Given the description of an element on the screen output the (x, y) to click on. 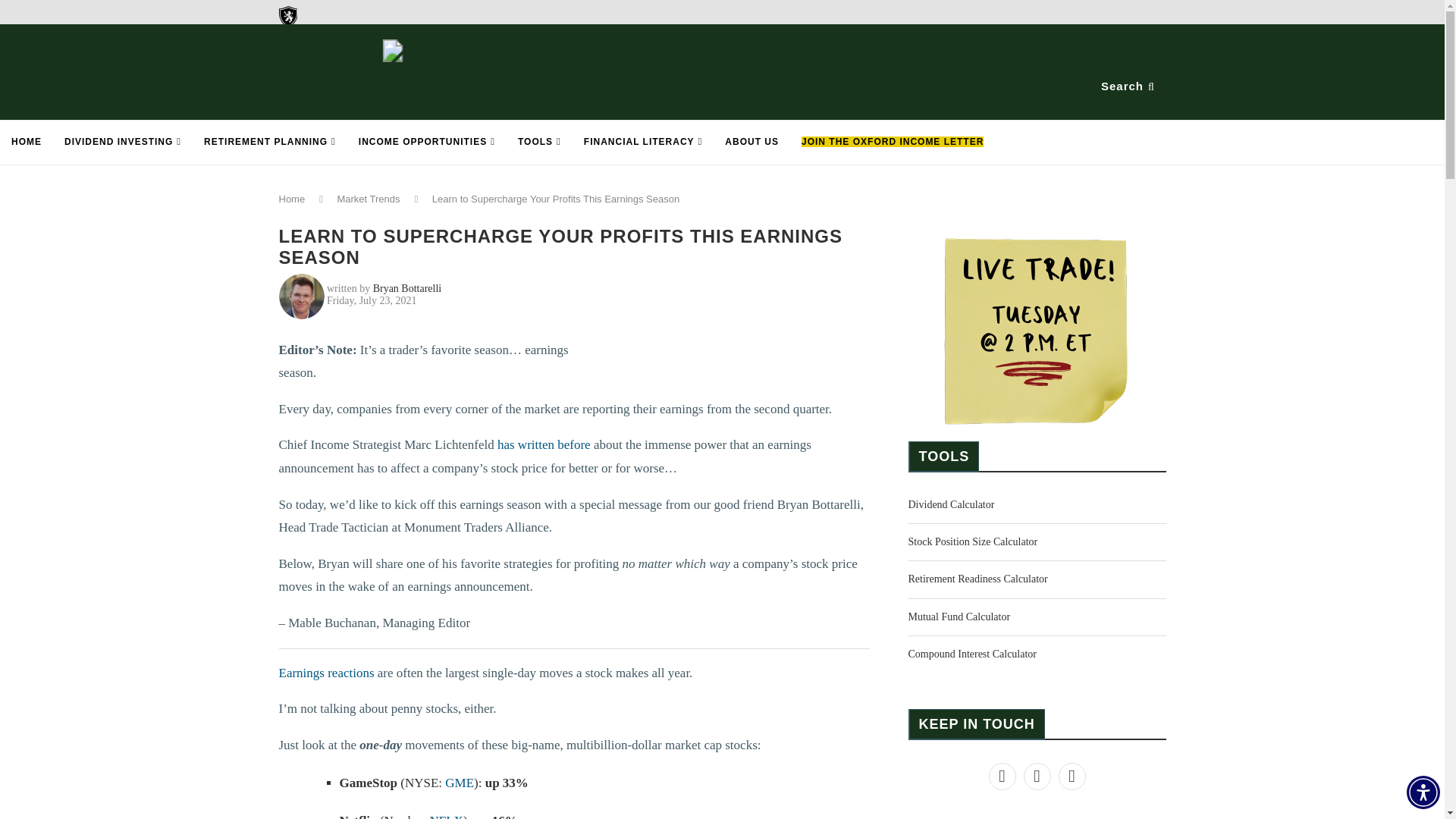
Accessibility Menu (1422, 792)
Search (1129, 86)
An Oxford Club Publication (373, 30)
HOME (26, 142)
INCOME OPPORTUNITIES (426, 142)
RETIREMENT PLANNING (269, 142)
DIVIDEND INVESTING (122, 142)
